Given the description of an element on the screen output the (x, y) to click on. 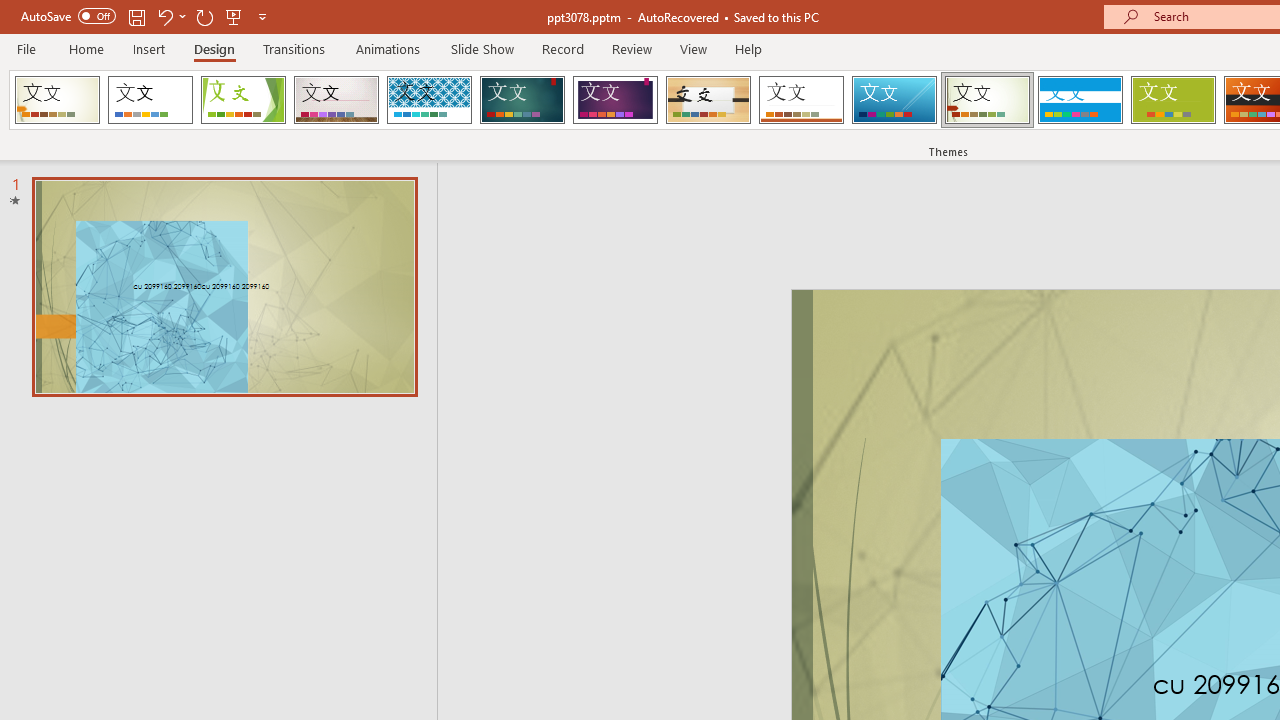
Ion Boardroom Loading Preview... (615, 100)
Office Theme (150, 100)
Wisp Loading Preview... (987, 100)
Banded Loading Preview... (1080, 100)
Organic Loading Preview... (708, 100)
